Given the description of an element on the screen output the (x, y) to click on. 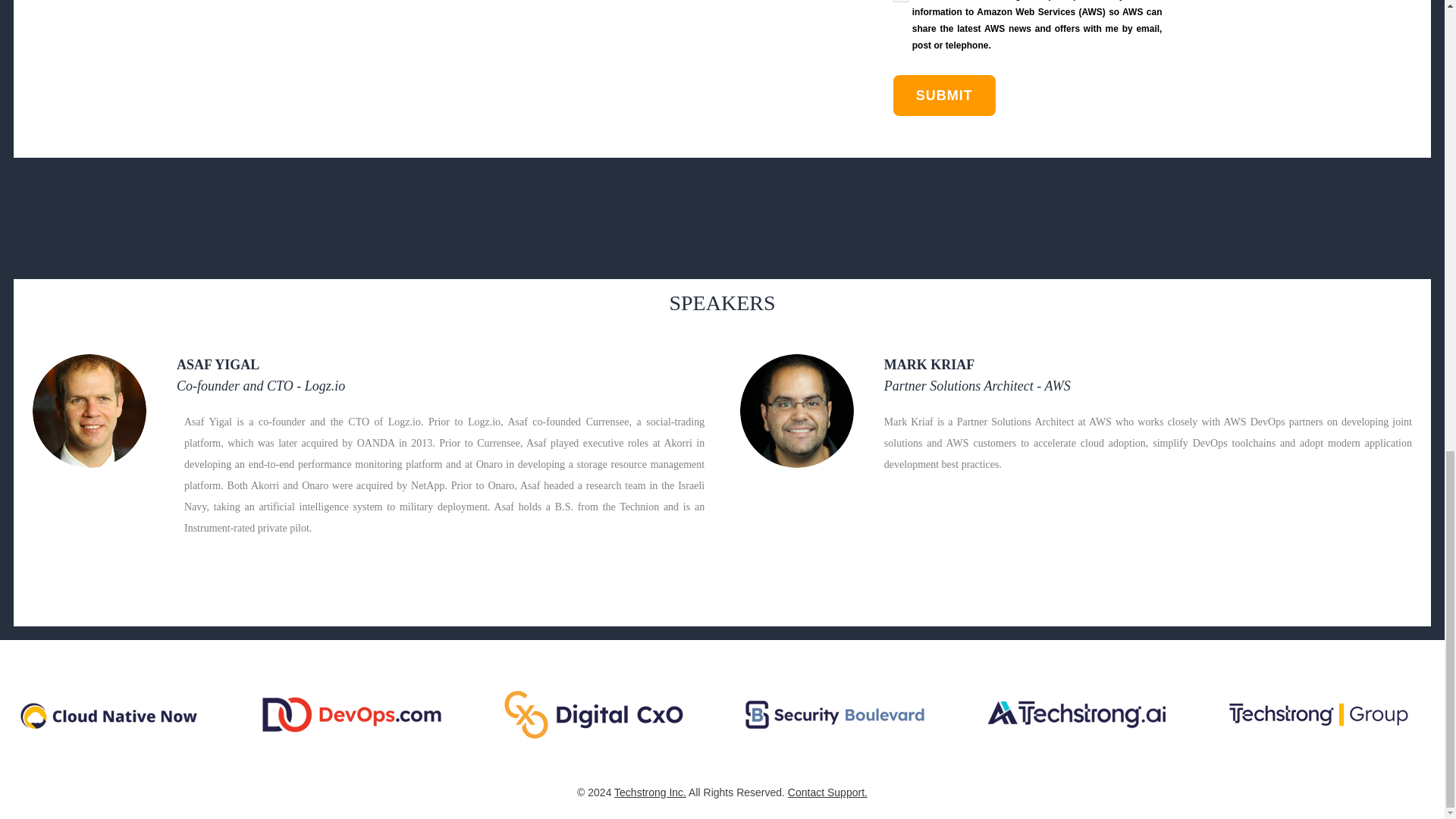
Techstrong Group (1318, 714)
Contact Support. (827, 792)
Techstrong.ai (1076, 714)
Techstrong Inc. (649, 792)
Submit (944, 95)
Cloud Native Now (109, 714)
Digital CxO (593, 714)
Submit (944, 95)
DevOps.com (351, 714)
Security Boulevard (834, 714)
